Given the description of an element on the screen output the (x, y) to click on. 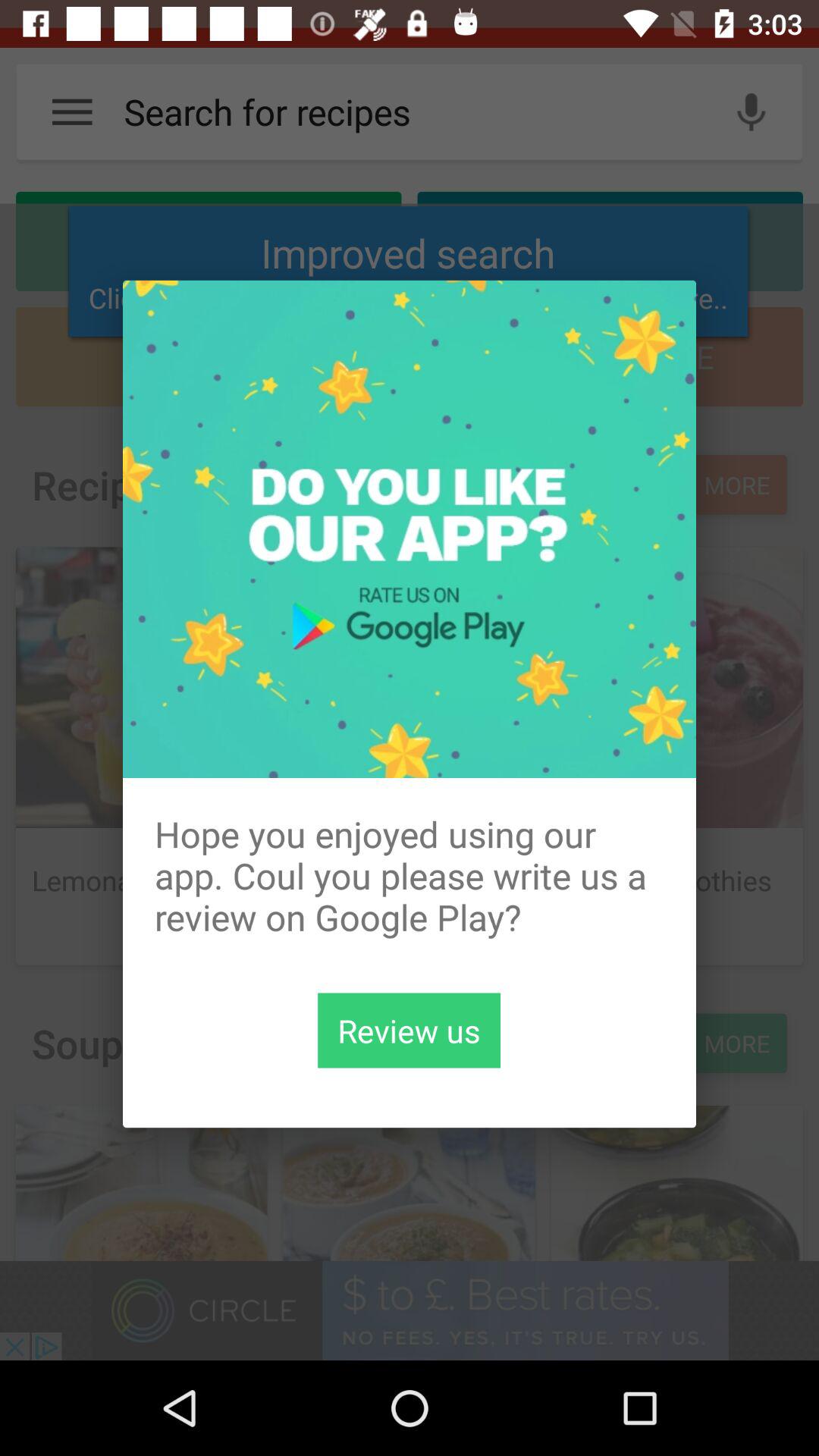
review us (408, 1030)
